Given the description of an element on the screen output the (x, y) to click on. 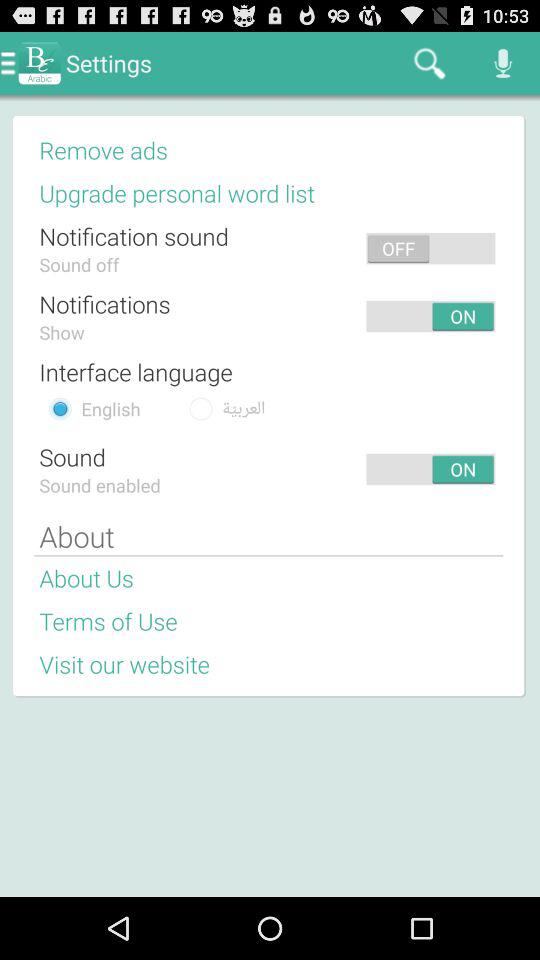
turn off the notification sound (133, 235)
